Given the description of an element on the screen output the (x, y) to click on. 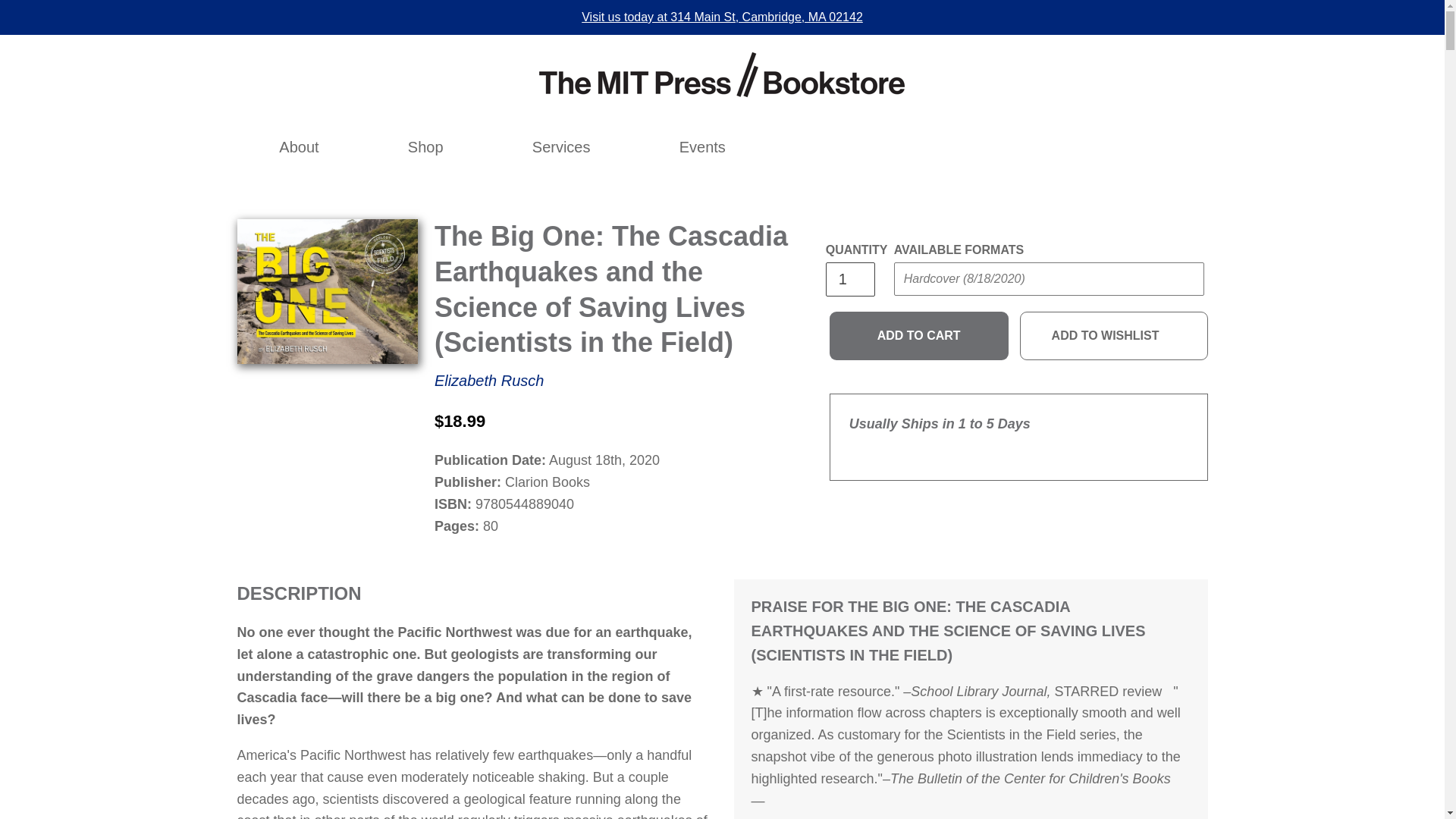
Log in (1022, 146)
Search (989, 146)
Services (561, 146)
Elizabeth Rusch (488, 380)
Submit (922, 308)
Visit us today at 314 Main St, Cambridge, MA 02142 (721, 16)
Cart (1088, 146)
Wishlists (1055, 146)
Add to cart (919, 336)
